Given the description of an element on the screen output the (x, y) to click on. 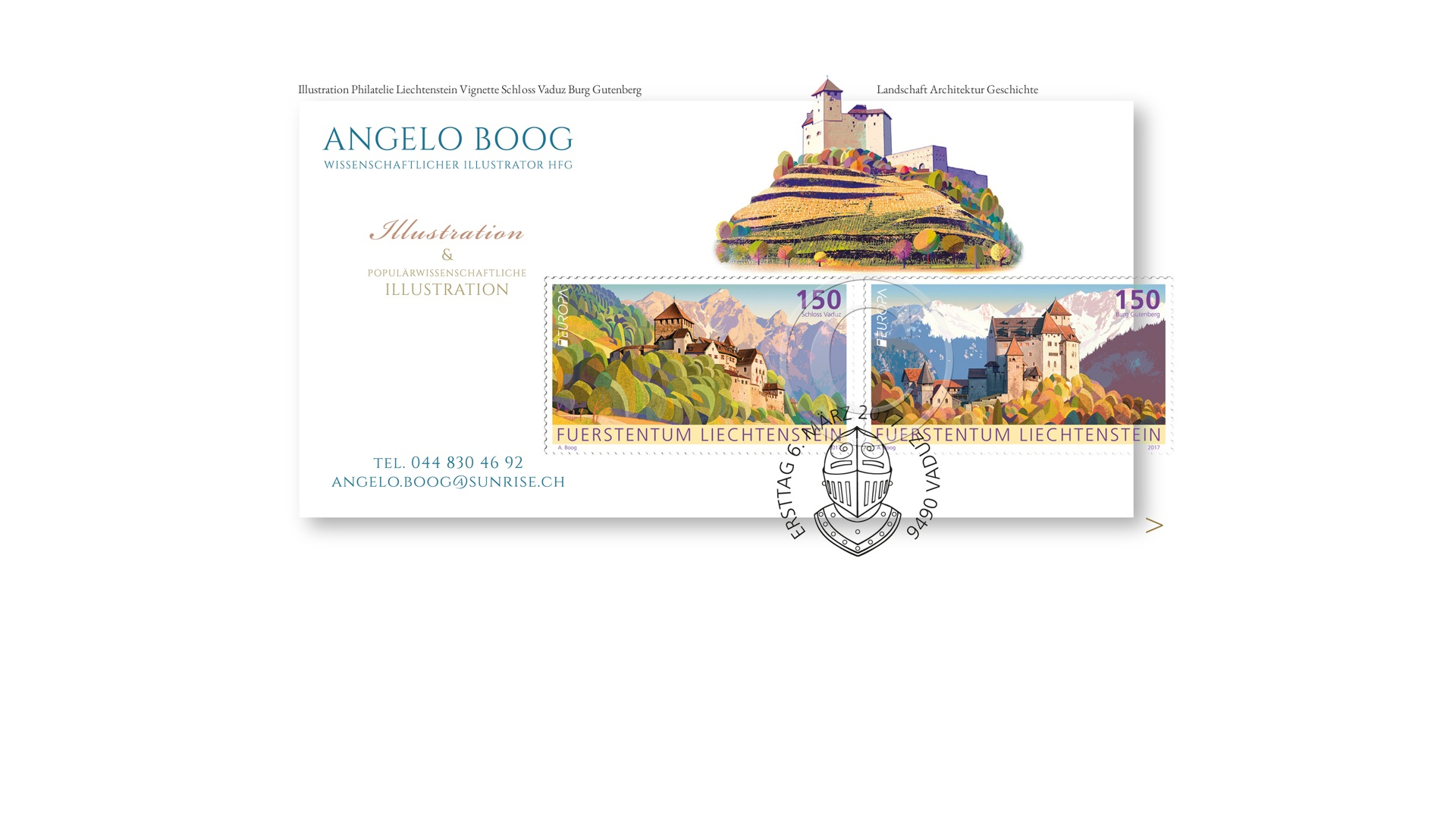
Illustration Philatelie Liechtenstein Vignette  Element type: hover (727, 316)
